Given the description of an element on the screen output the (x, y) to click on. 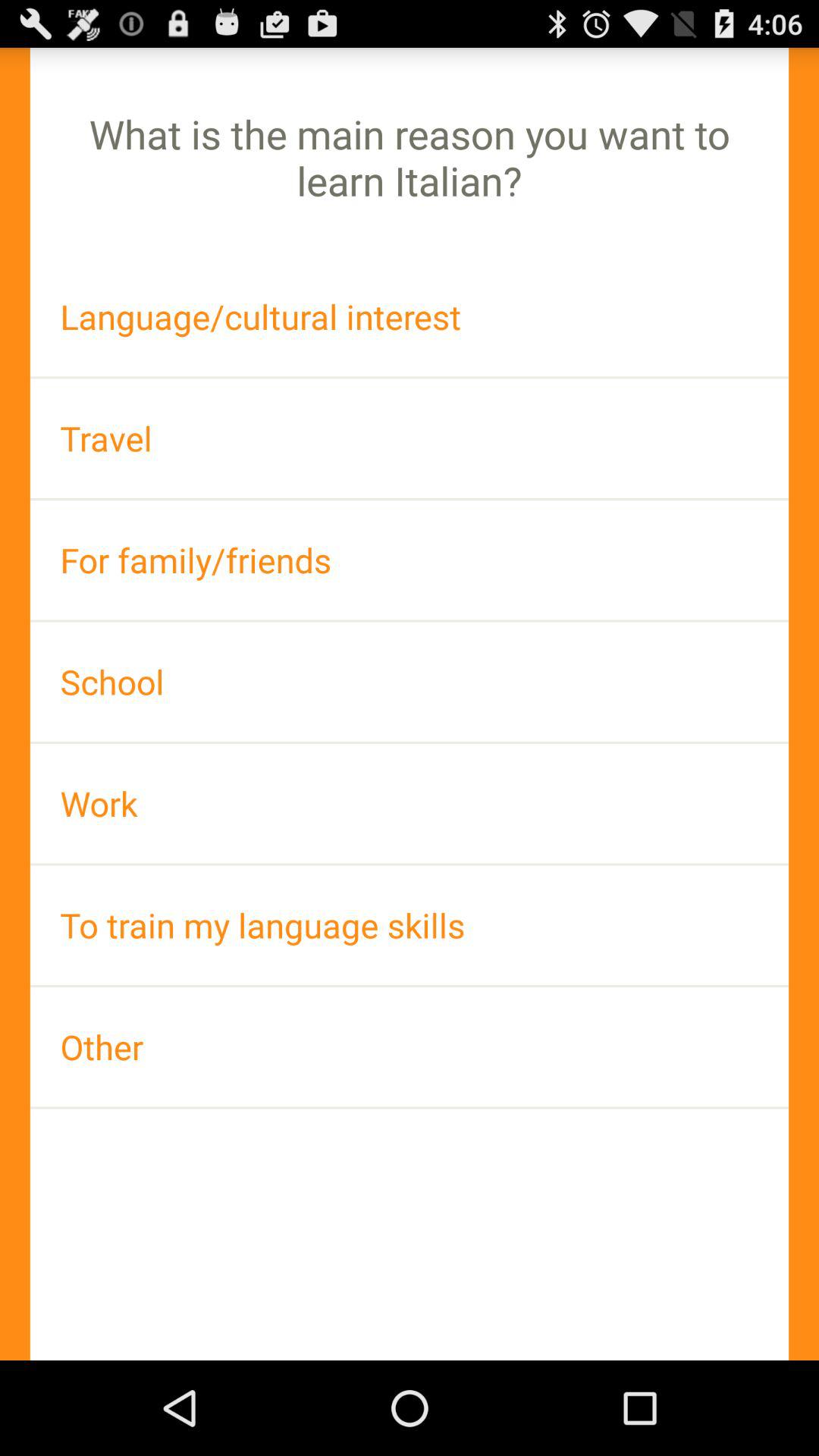
select item below language/cultural interest (409, 438)
